Given the description of an element on the screen output the (x, y) to click on. 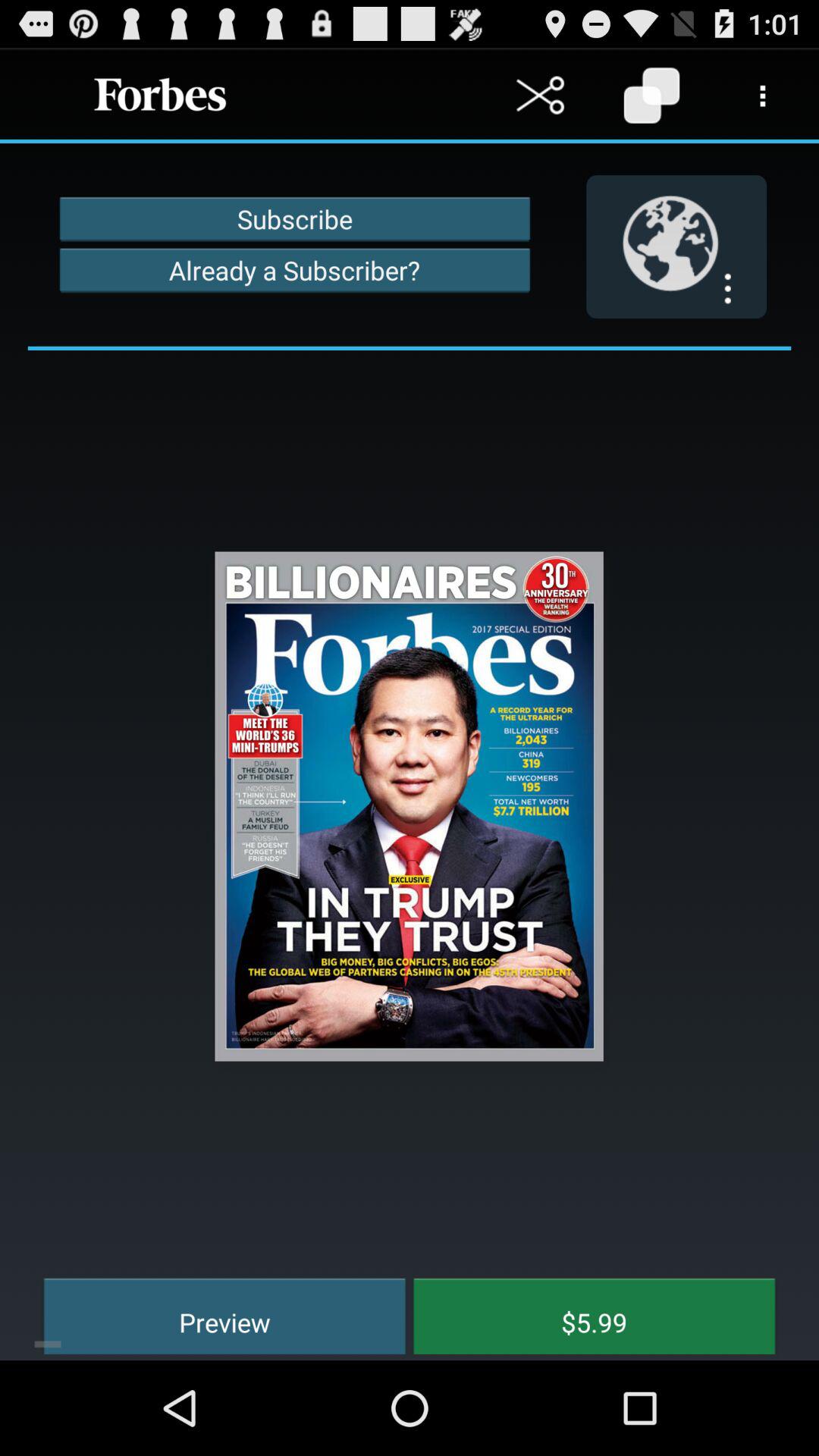
swipe to already a subscriber? item (294, 269)
